Given the description of an element on the screen output the (x, y) to click on. 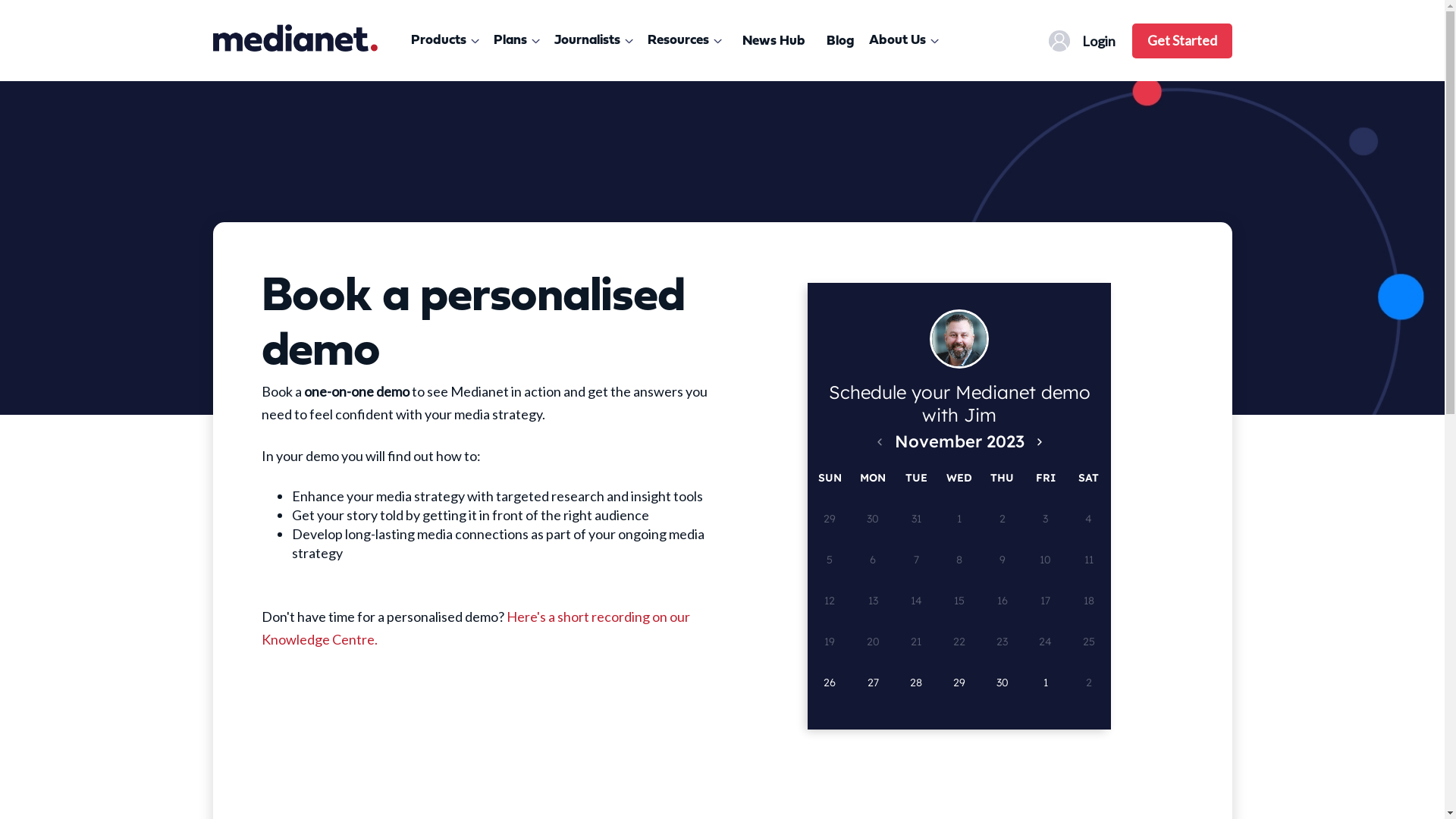
Medianet logo RGB 2020 Element type: hover (294, 37)
News Hub Element type: text (773, 41)
Resources Element type: text (687, 40)
Blog Element type: text (839, 41)
Get Started Element type: text (1181, 39)
Login Element type: text (1083, 40)
Journalists Element type: text (596, 40)
Plans Element type: text (519, 40)
nav-profile-icon Element type: hover (1058, 40)
Book a medianet demo Element type: hover (722, 247)
Products Element type: text (447, 40)
Here's a short recording on our Knowledge Centre. Element type: text (474, 627)
About Us Element type: text (906, 40)
